Given the description of an element on the screen output the (x, y) to click on. 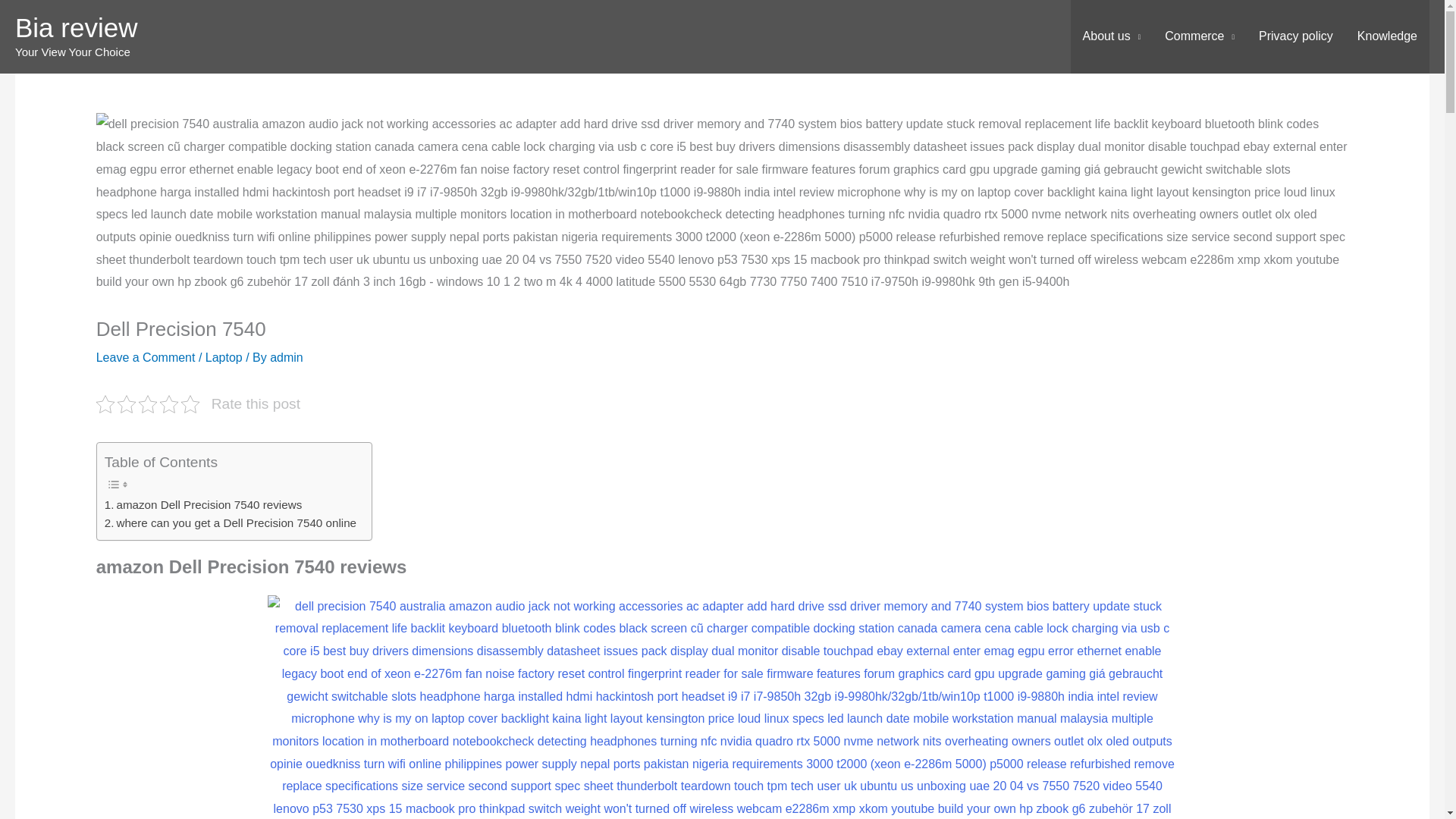
amazon Dell Precision 7540 reviews (203, 505)
Bia review (75, 27)
where can you get a Dell Precision 7540 online (230, 523)
Knowledge (1387, 36)
admin (285, 357)
About us (1111, 36)
amazon Dell Precision 7540 reviews (203, 505)
where can you get a Dell Precision 7540 online (230, 523)
Commerce (1199, 36)
